Given the description of an element on the screen output the (x, y) to click on. 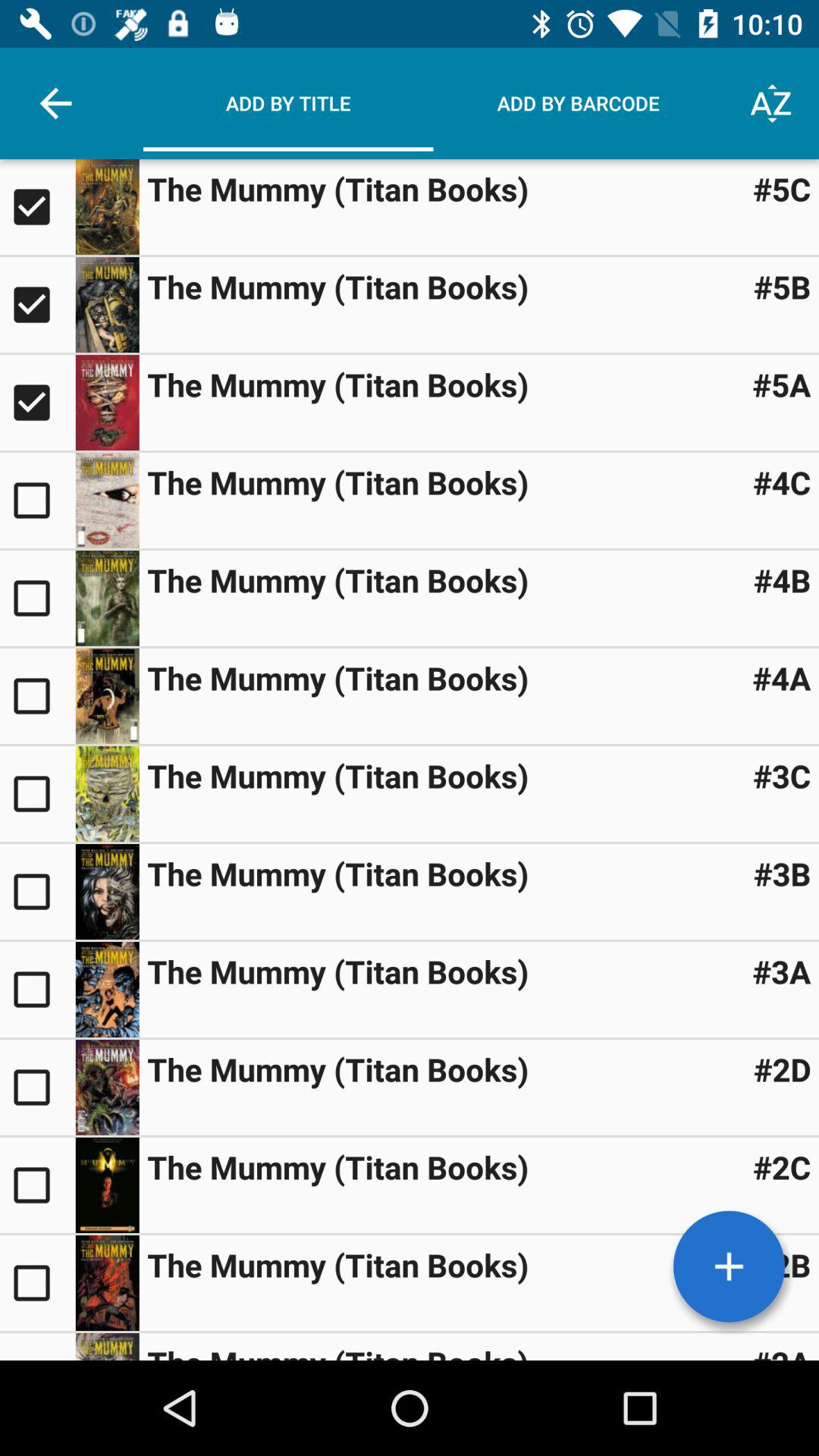
the option is used to select the item from the list (37, 989)
